Given the description of an element on the screen output the (x, y) to click on. 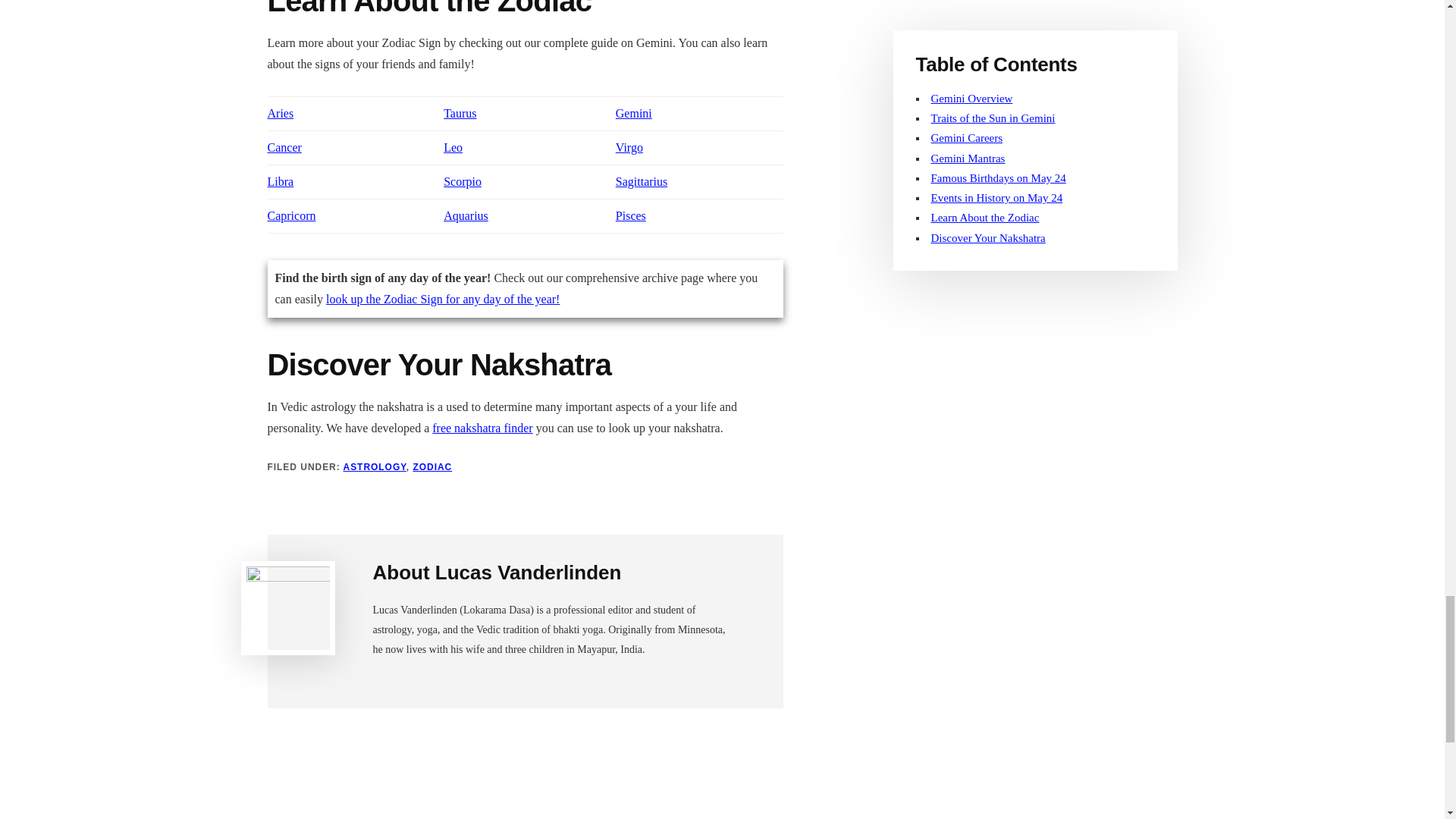
Scorpio (462, 181)
Libra (280, 181)
Aquarius (465, 215)
Taurus (460, 113)
Cancer (283, 146)
Sagittarius (640, 181)
Gemini (633, 113)
Virgo (629, 146)
Leo (453, 146)
Aries (280, 113)
Capricorn (290, 215)
